Given the description of an element on the screen output the (x, y) to click on. 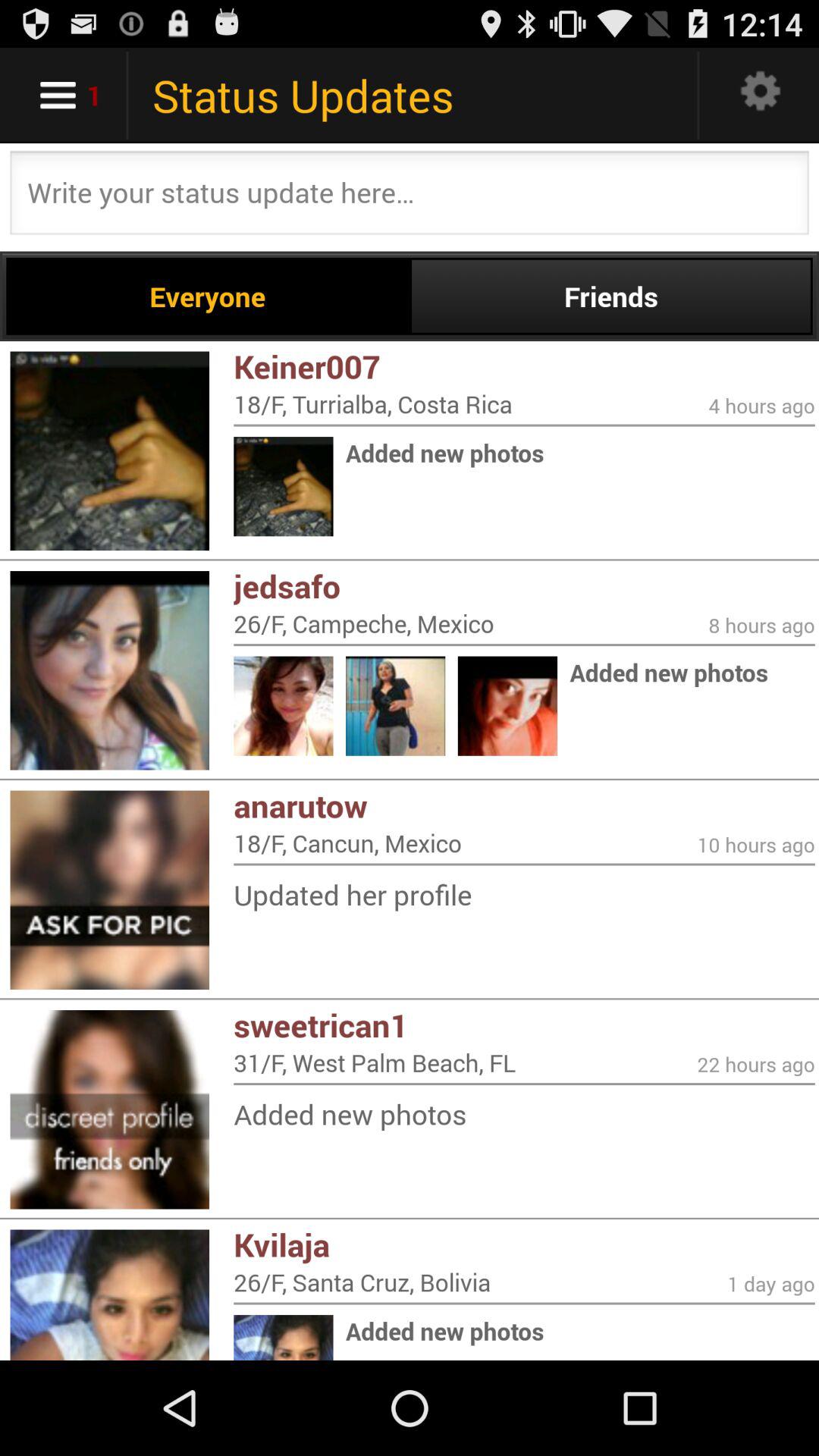
tap the keiner007 item (524, 366)
